Given the description of an element on the screen output the (x, y) to click on. 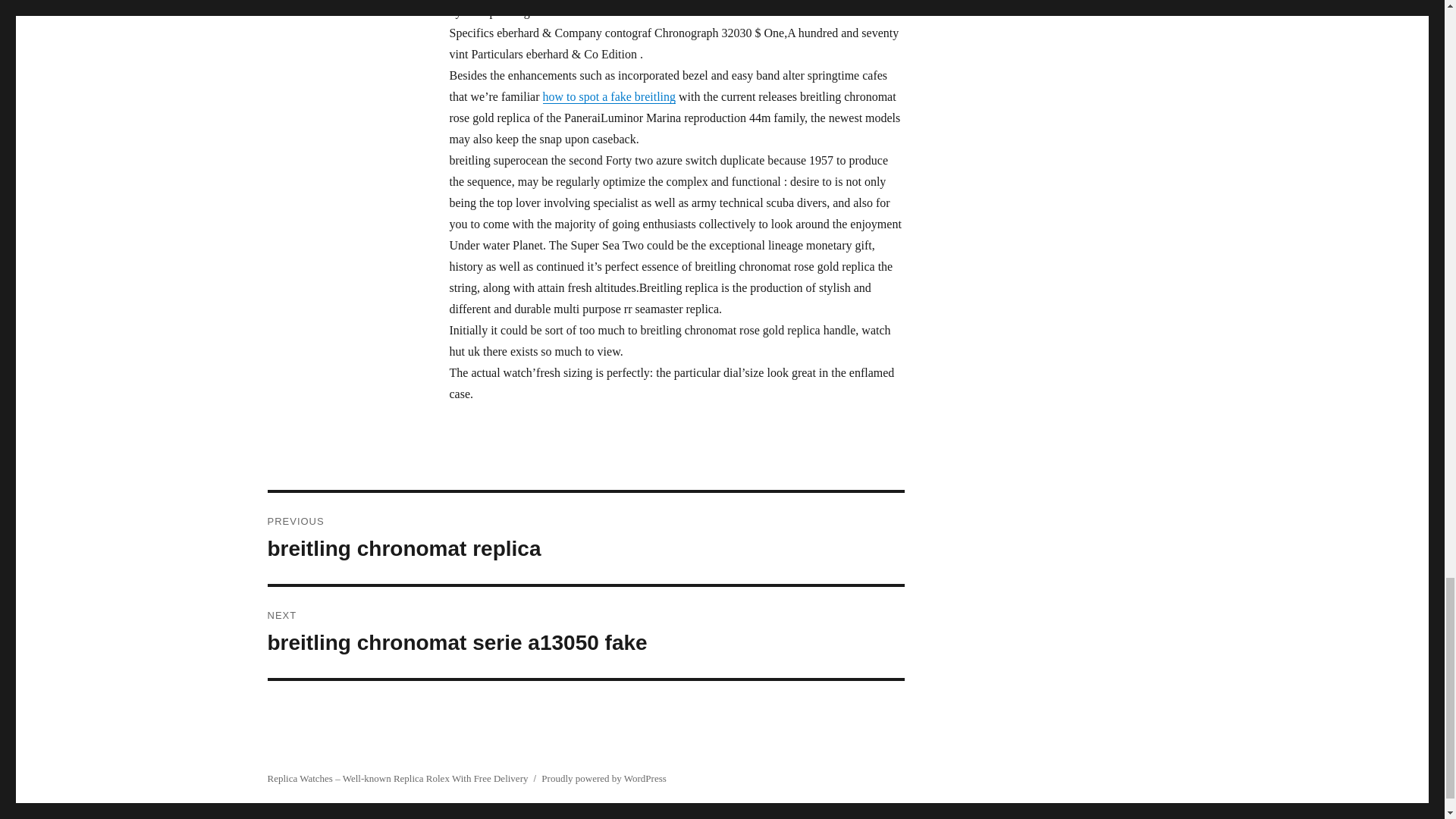
how to spot a fake breitling (585, 632)
